Given the description of an element on the screen output the (x, y) to click on. 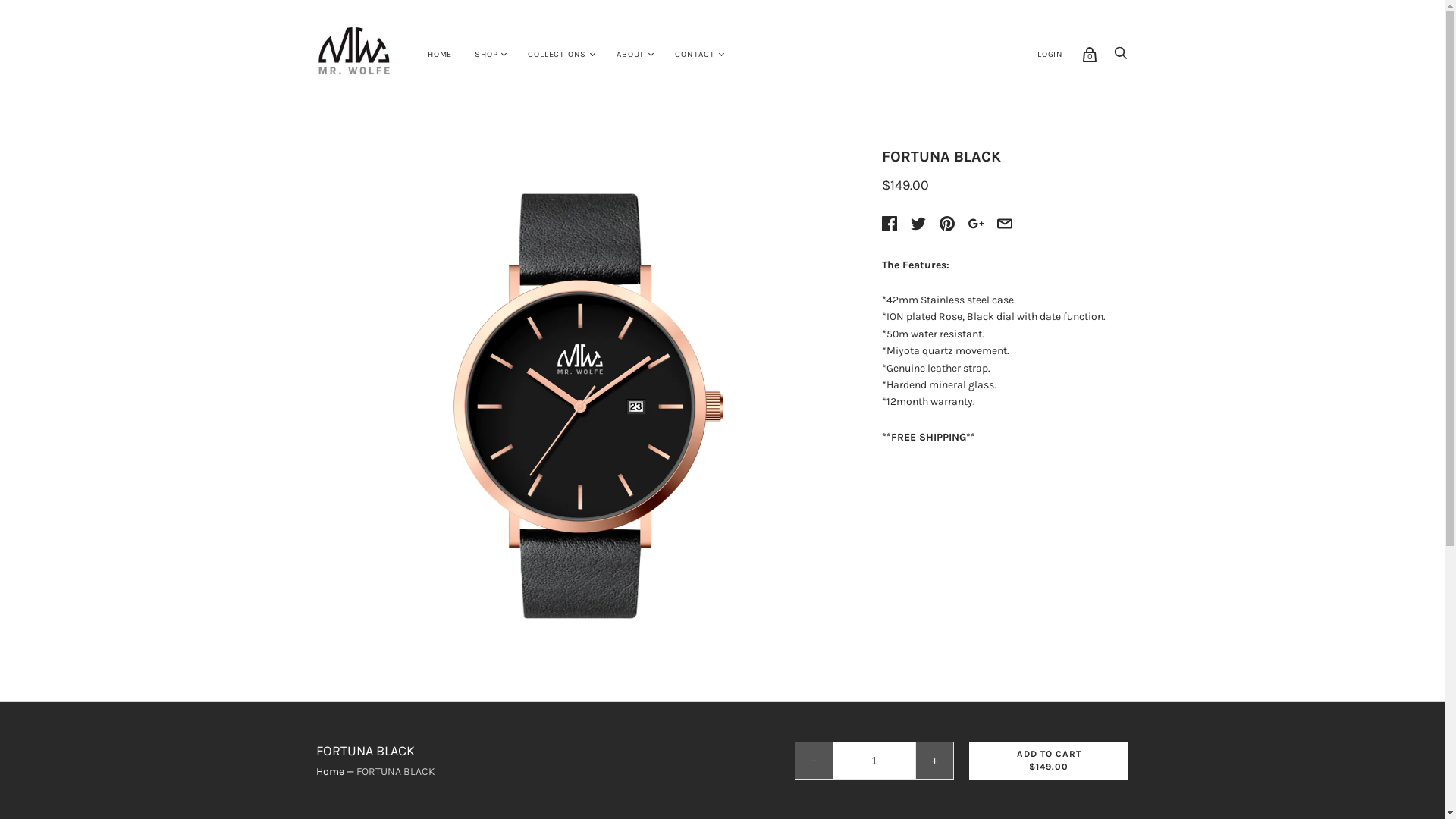
ABOUT Element type: text (630, 54)
COLLECTIONS Element type: text (556, 54)
Facebook Element type: hover (1058, 777)
Home Element type: text (330, 771)
LOGIN Element type: text (1050, 54)
ADD TO CART
$149.00 Element type: text (1048, 760)
E-mail Element type: hover (1119, 777)
SUBSCRIBE Element type: text (566, 777)
SHOP Element type: text (485, 54)
CONTACT Element type: text (694, 54)
Instagram Element type: hover (1088, 777)
+ Element type: text (934, 760)
0 Element type: text (1089, 54)
HOME Element type: text (439, 54)
